Given the description of an element on the screen output the (x, y) to click on. 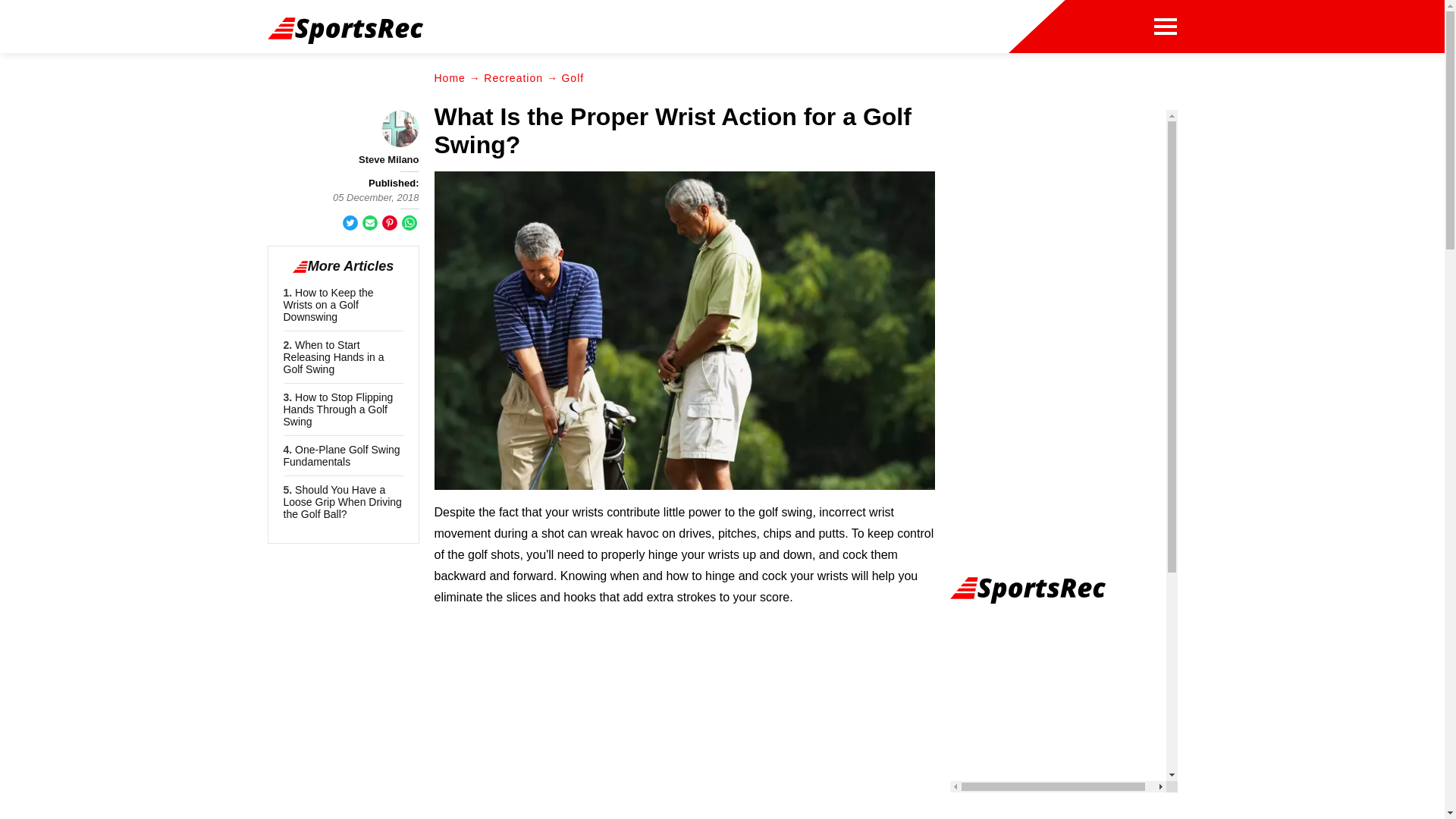
How to Stop Flipping Hands Through a Golf Swing (338, 409)
When to Start Releasing Hands in a Golf Swing (333, 357)
Should You Have a Loose Grip When Driving the Golf Ball? (342, 502)
How to Keep the Wrists on a Golf Downswing (328, 304)
3rd party ad content (794, 30)
3rd party ad content (1062, 204)
Recreation (513, 78)
One-Plane Golf Swing Fundamentals (341, 455)
3rd party ad content (683, 725)
Home (448, 78)
